Given the description of an element on the screen output the (x, y) to click on. 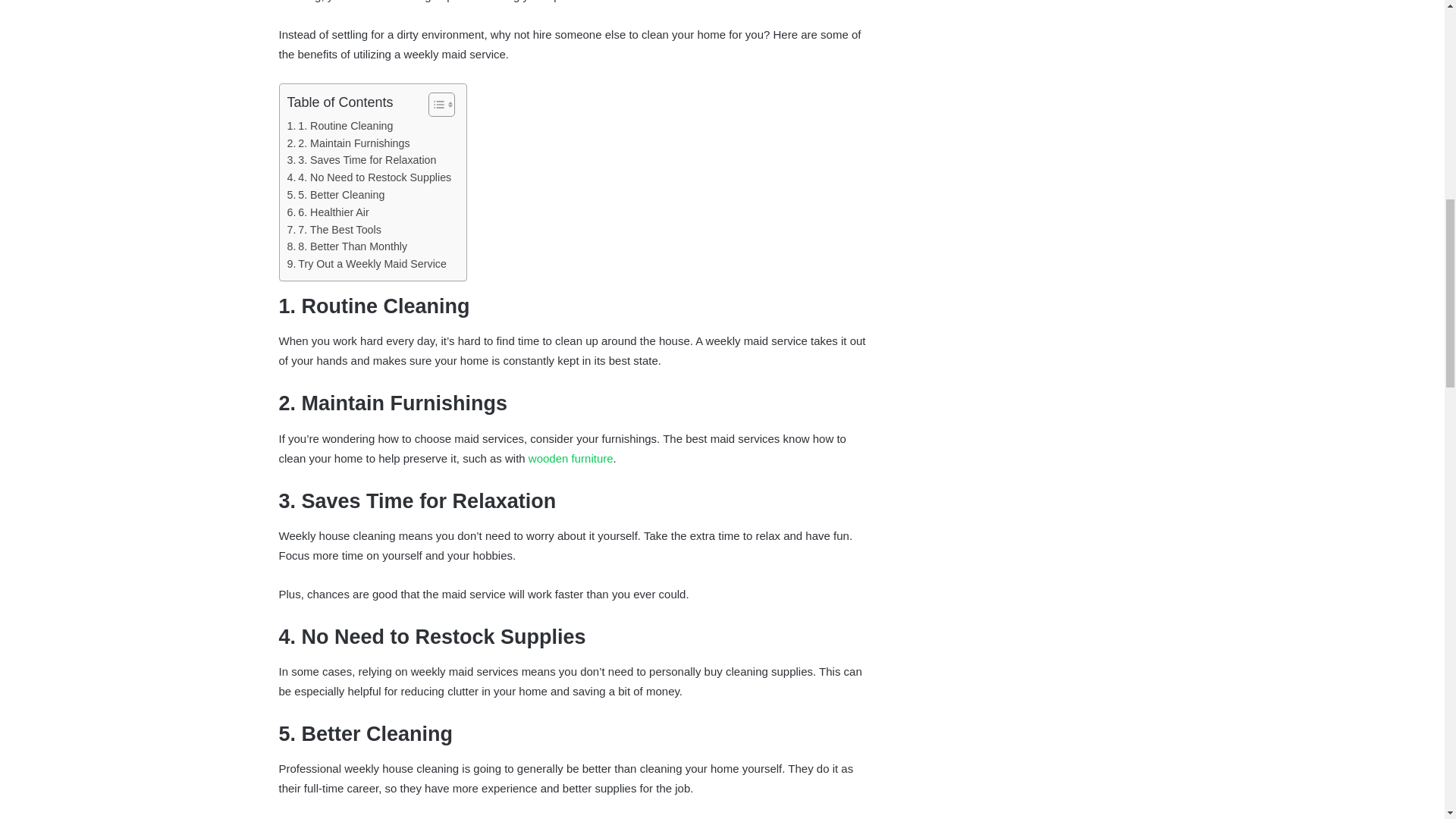
3. Saves Time for Relaxation (360, 159)
Try Out a Weekly Maid Service (365, 263)
2. Maintain Furnishings (347, 143)
1. Routine Cleaning (339, 126)
4. No Need to Restock Supplies (368, 177)
8. Better Than Monthly (346, 246)
4. No Need to Restock Supplies (368, 177)
1. Routine Cleaning (339, 126)
6. Healthier Air (327, 212)
7. The Best Tools (333, 230)
3. Saves Time for Relaxation (360, 159)
2. Maintain Furnishings (347, 143)
5. Better Cleaning (335, 194)
